Given the description of an element on the screen output the (x, y) to click on. 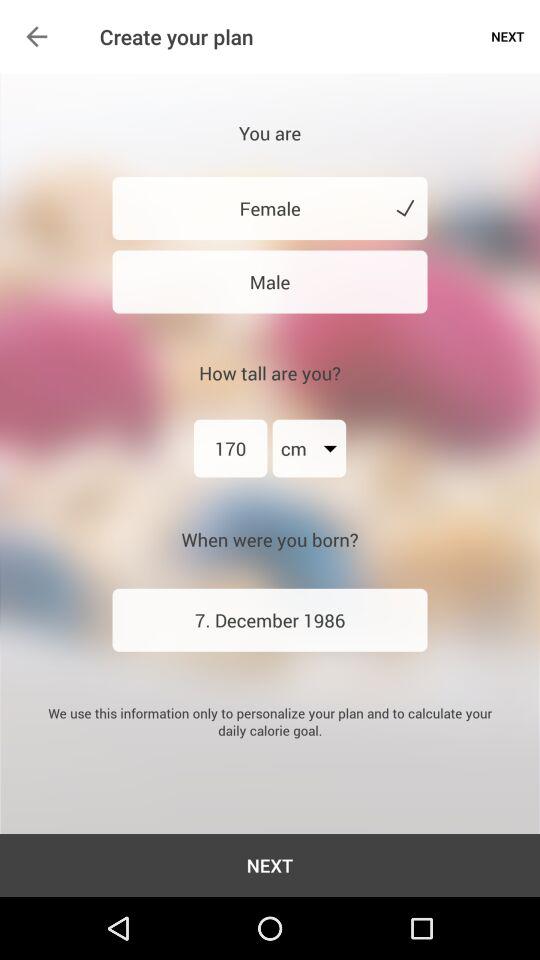
flip until the cm item (309, 448)
